Given the description of an element on the screen output the (x, y) to click on. 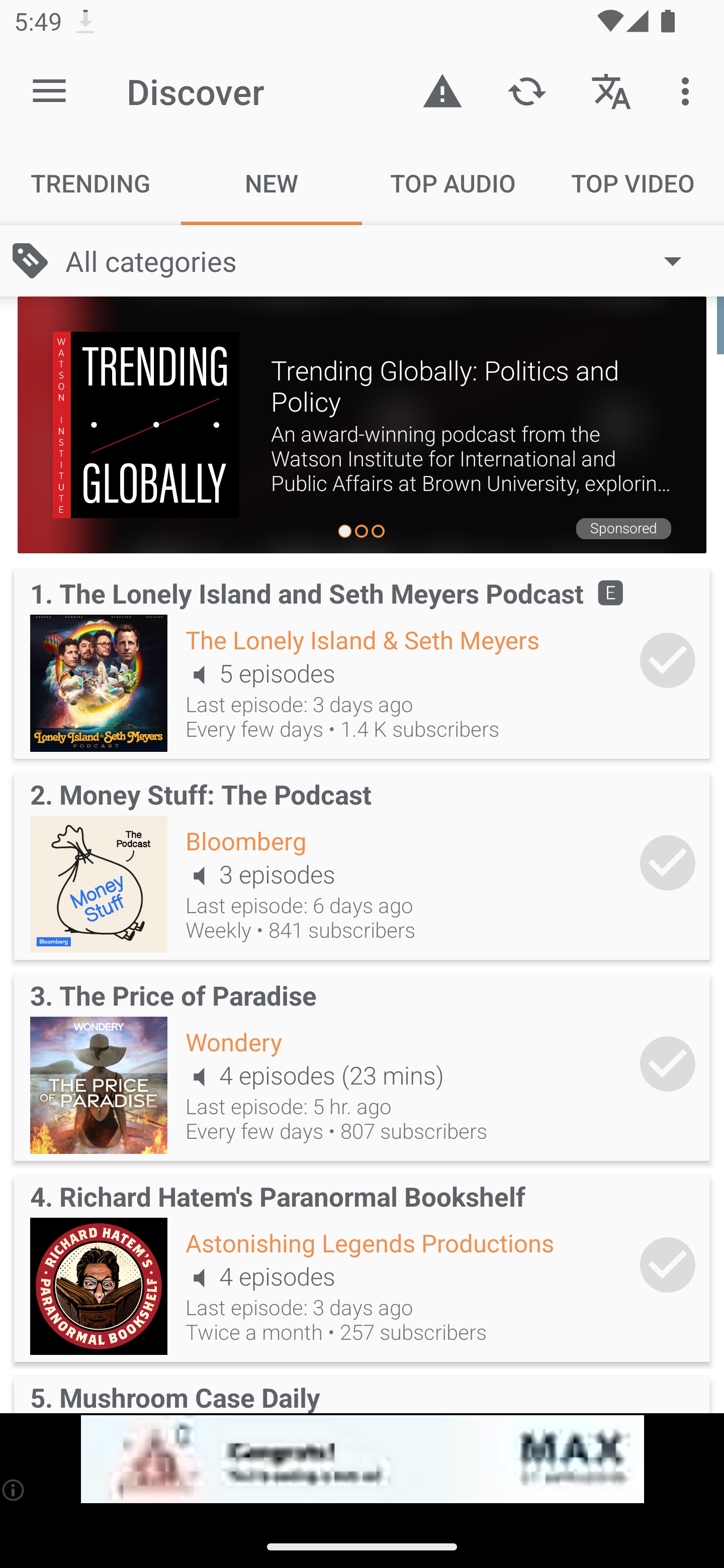
Open navigation sidebar (49, 91)
Report inappropriate content (442, 90)
Update top podcasts list (526, 90)
Podcast languages (611, 90)
More options (688, 90)
Trending TRENDING (90, 183)
Top Audio TOP AUDIO (452, 183)
Top Video TOP VIDEO (633, 183)
All categories (383, 260)
Add (667, 659)
Add (667, 862)
Add (667, 1063)
Add (667, 1265)
5. Mushroom Case Daily (362, 1390)
app-monetization (362, 1459)
(i) (14, 1489)
